Given the description of an element on the screen output the (x, y) to click on. 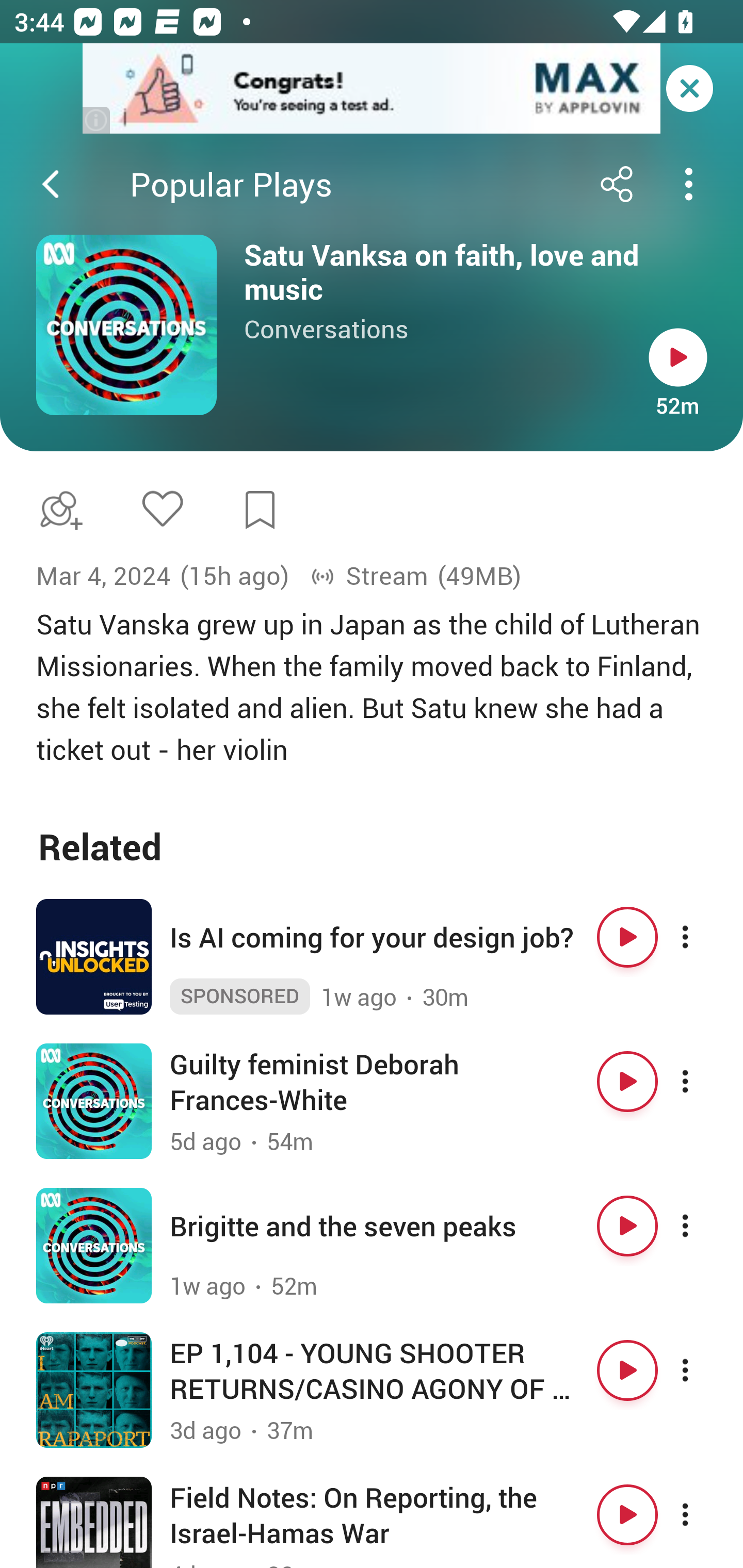
app-monetization (371, 88)
(i) (96, 119)
Back (50, 184)
Open series (126, 325)
Play button (677, 357)
Like (161, 507)
Add episode to Play Later (57, 509)
New bookmark … (259, 510)
Stream (368, 576)
Play button (627, 936)
More options (703, 936)
Play button (627, 1081)
More options (703, 1081)
Play button (627, 1225)
More options (703, 1225)
Play button (627, 1370)
More options (703, 1370)
Play button (627, 1514)
More options (703, 1514)
